Given the description of an element on the screen output the (x, y) to click on. 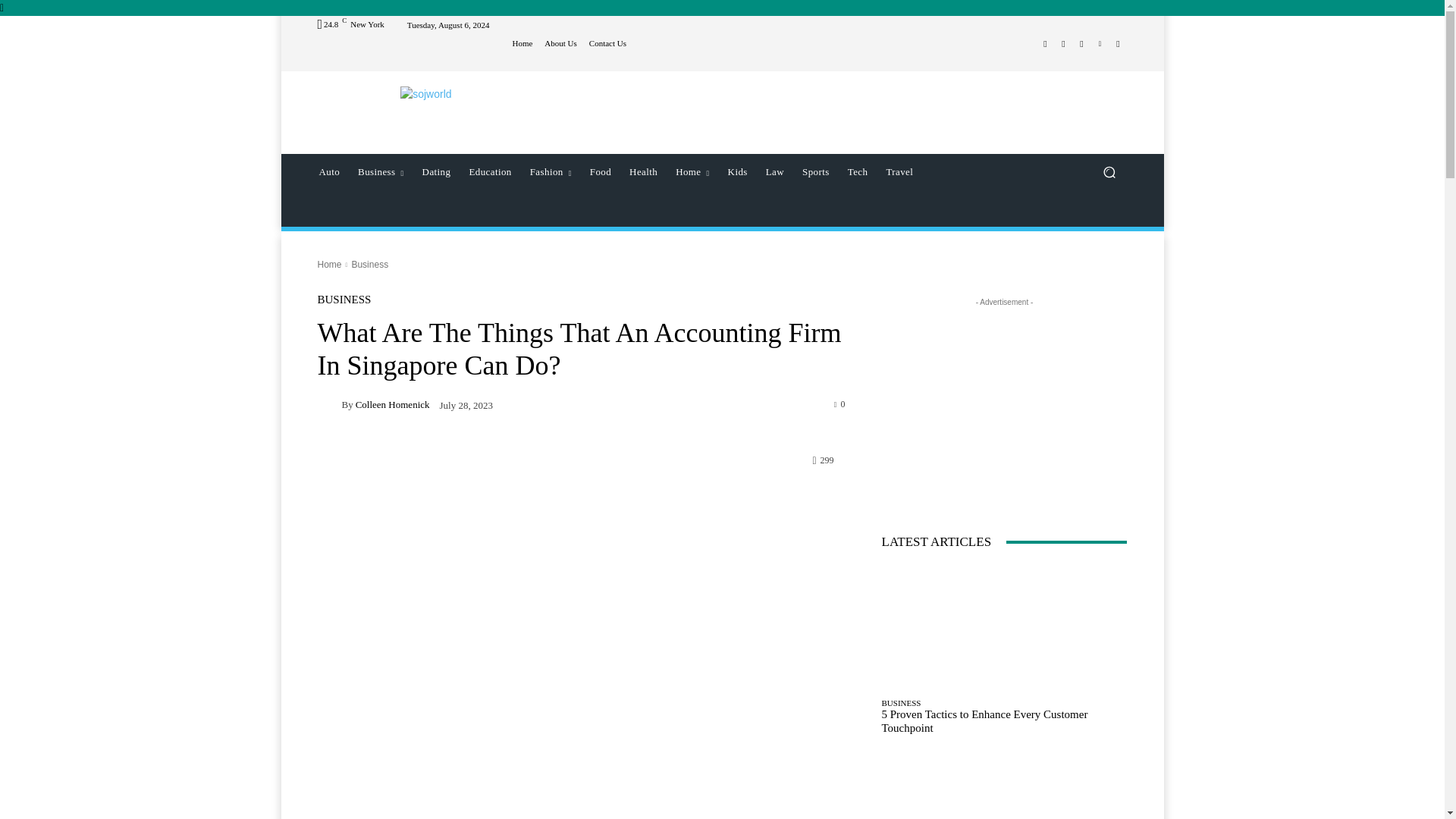
About Us (560, 43)
sojworld.com (425, 94)
Fashion (550, 171)
View all posts in Business (369, 264)
Dating (436, 171)
Contact Us (607, 43)
Facebook (1044, 44)
Youtube (1117, 44)
Education (489, 171)
Vimeo (1099, 44)
